Given the description of an element on the screen output the (x, y) to click on. 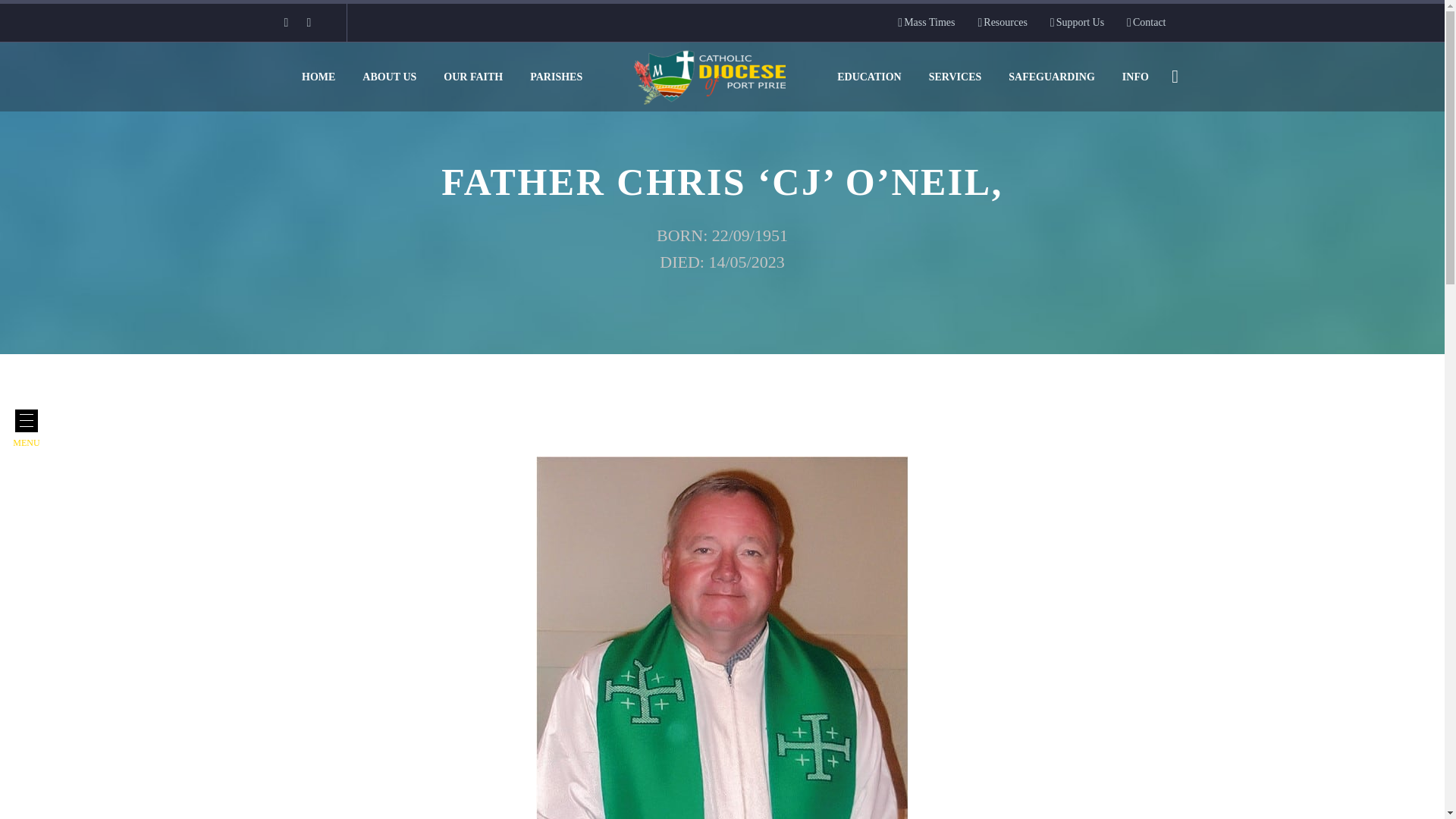
Search (40, 15)
YouTube (308, 22)
Facebook (286, 22)
Mass Times around the Diocese (926, 22)
